Given the description of an element on the screen output the (x, y) to click on. 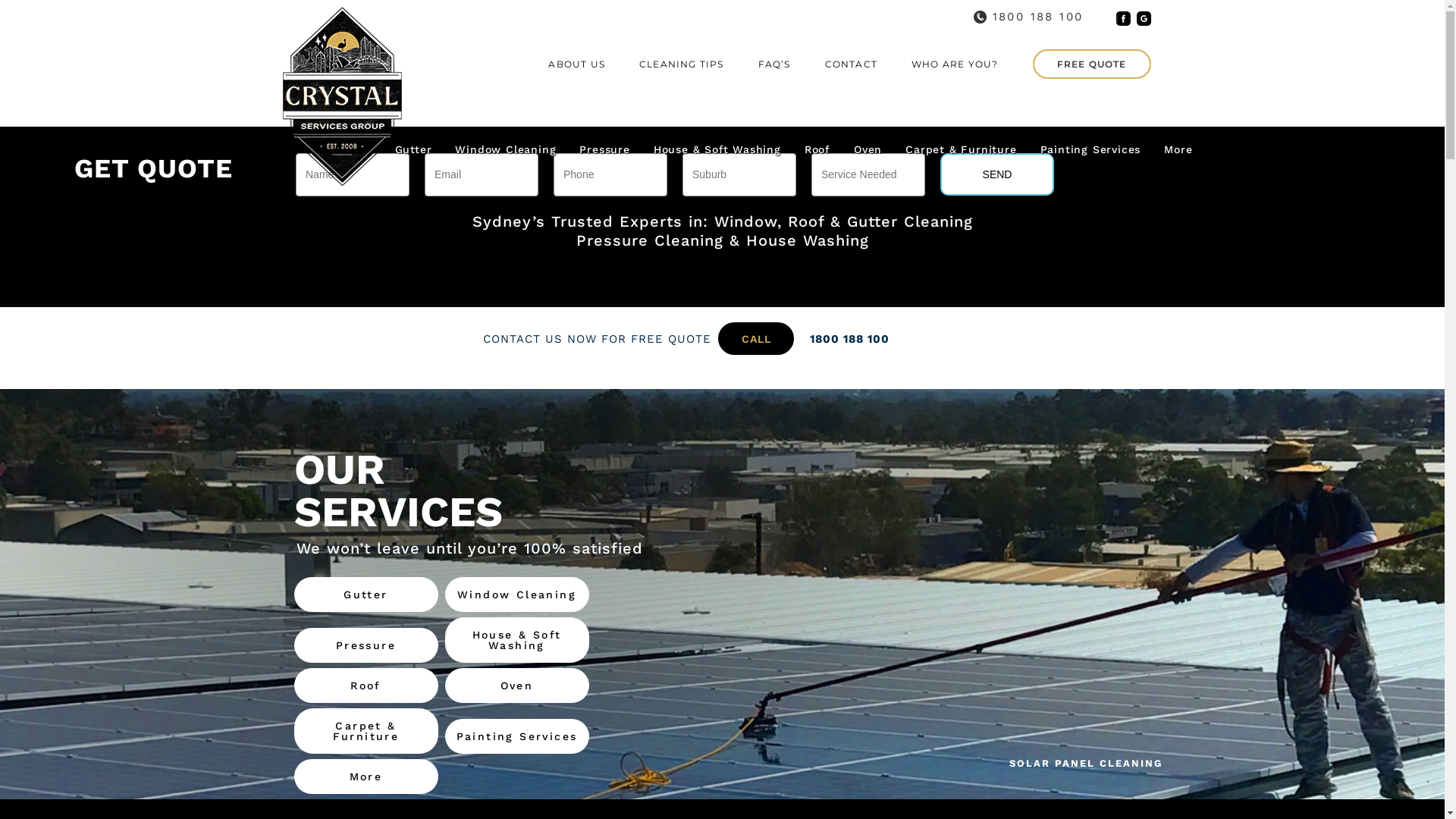
House & Soft Washing Element type: text (516, 639)
Roof Element type: text (817, 153)
Window Cleaning Element type: text (505, 153)
WHO ARE YOU? Element type: text (954, 63)
Oven Element type: text (516, 685)
Oven Element type: text (867, 153)
Pressure Element type: text (366, 644)
Window Cleaning Element type: text (516, 594)
Carpet & Furniture Element type: text (366, 730)
Gutter Element type: text (366, 594)
Carpet & Furniture Element type: text (960, 153)
Gutter Element type: text (413, 153)
House & Soft Washing Element type: text (717, 153)
Roof Element type: text (366, 685)
FREE QUOTE Element type: text (1091, 63)
CALL Element type: text (755, 338)
ABOUT US Element type: text (576, 63)
Painting Services Element type: text (1090, 153)
CLEANING TIPS Element type: text (681, 63)
SEND Element type: text (997, 174)
Pressure Element type: text (604, 153)
Painting Services Element type: text (516, 735)
More Element type: text (1177, 153)
CONTACT Element type: text (851, 63)
More Element type: text (366, 776)
